Given the description of an element on the screen output the (x, y) to click on. 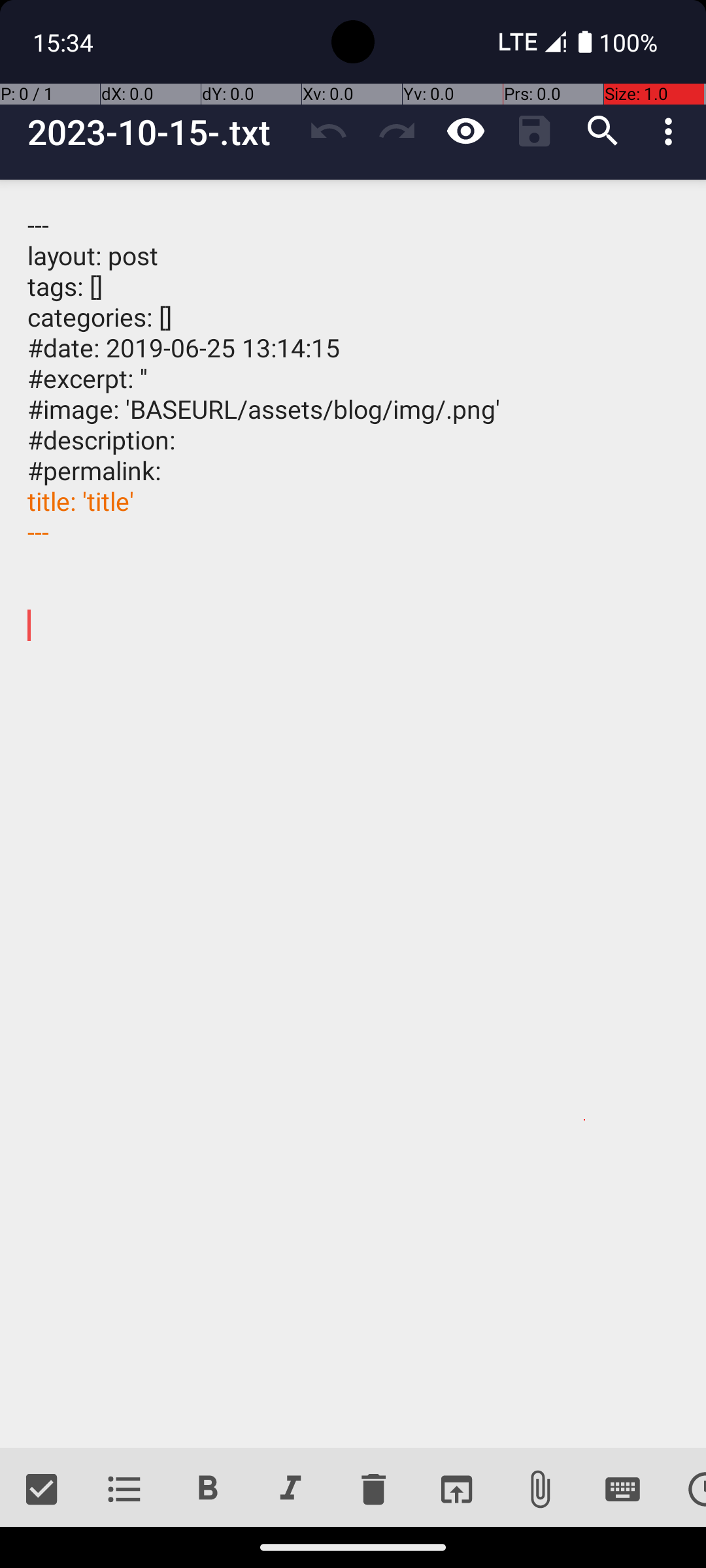
2023-10-15-.txt Element type: android.widget.TextView (160, 131)
---
layout: post
tags: []
categories: []
#date: 2019-06-25 13:14:15
#excerpt: ''
#image: 'BASEURL/assets/blog/img/.png'
#description:
#permalink:
title: 'title'
---


 Element type: android.widget.EditText (353, 813)
